Given the description of an element on the screen output the (x, y) to click on. 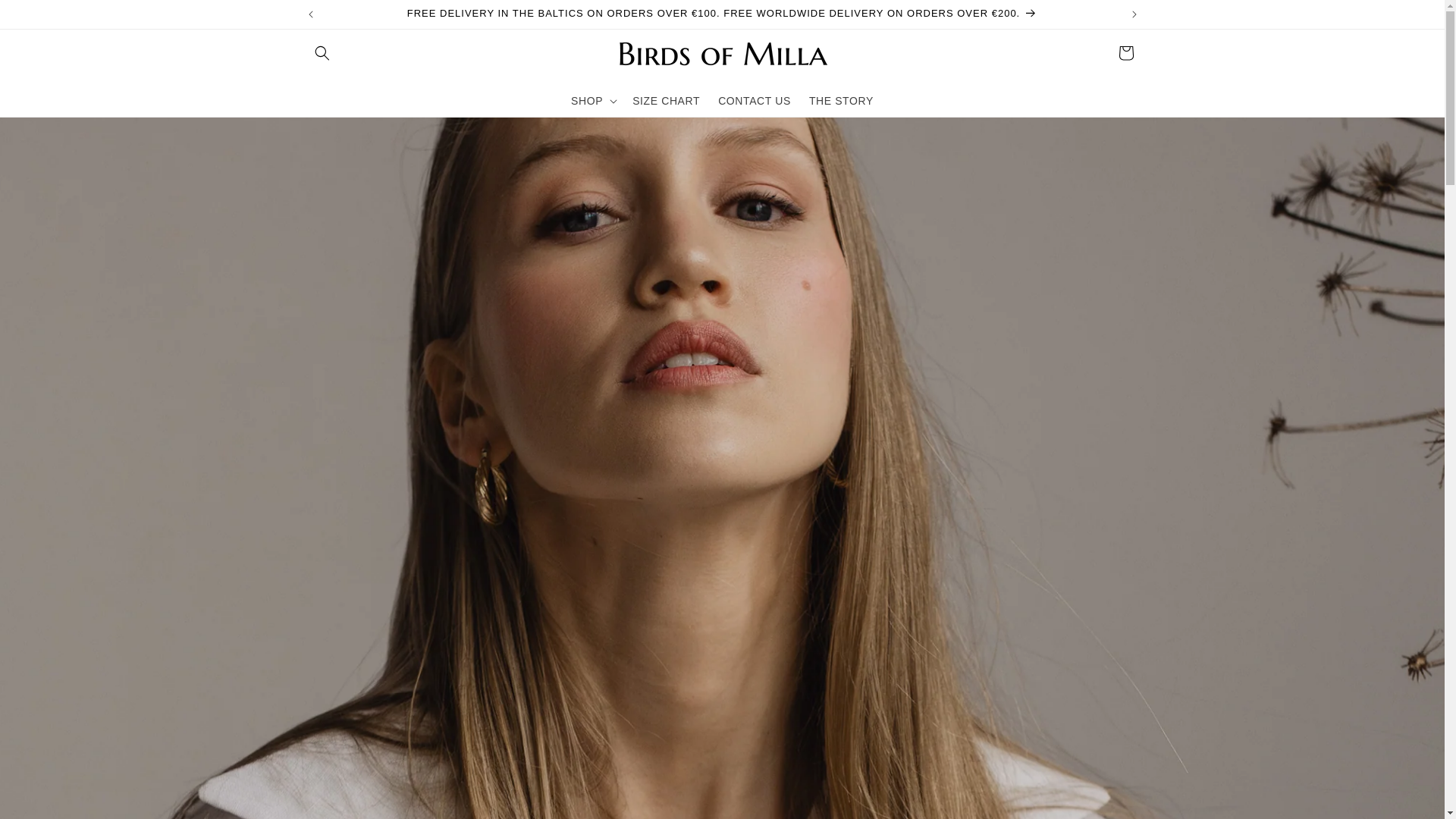
Skip to content (45, 16)
